Given the description of an element on the screen output the (x, y) to click on. 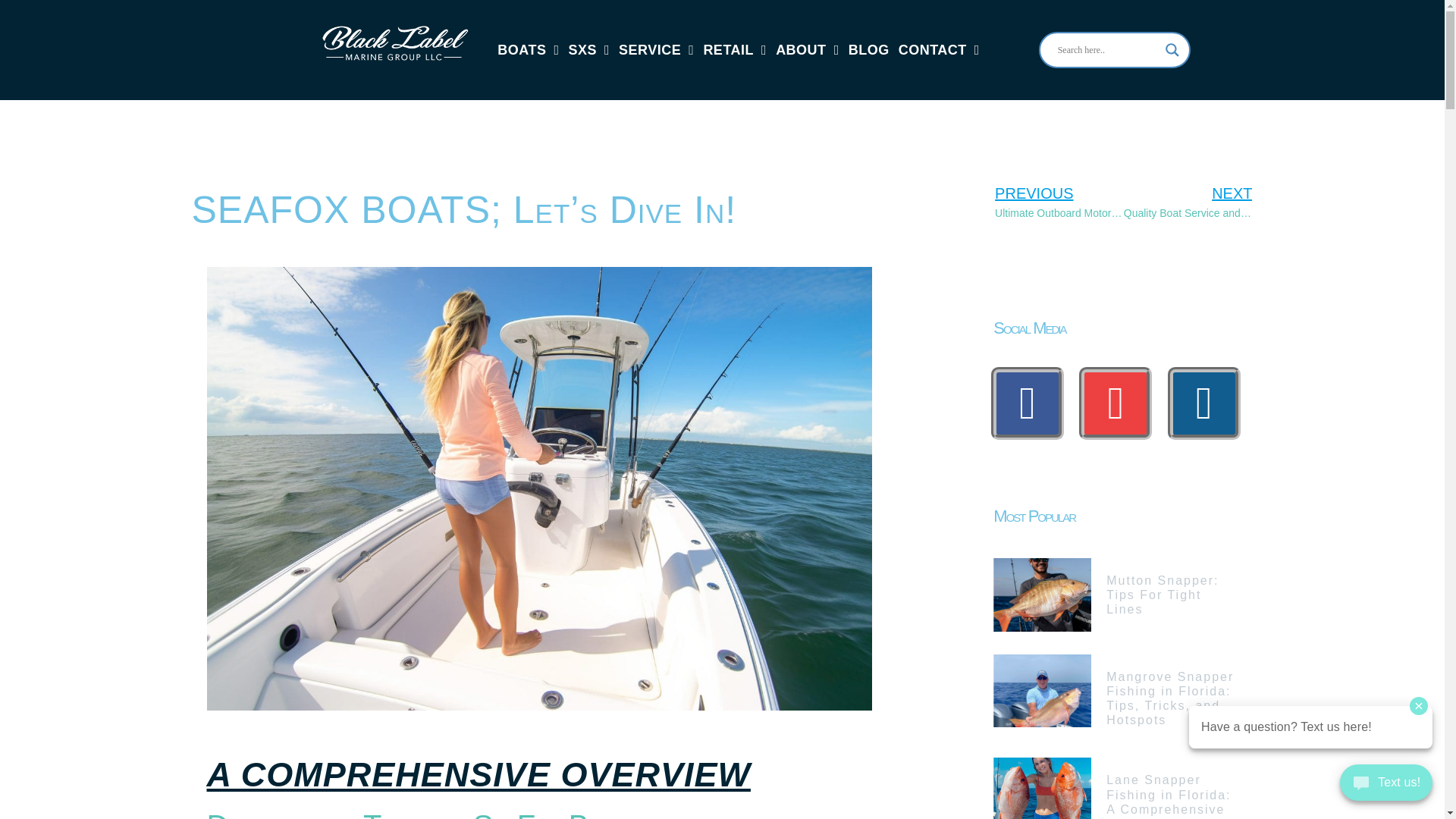
SERVICE (656, 49)
SXS (588, 49)
BOATS (528, 49)
RETAIL (734, 49)
ABOUT (807, 49)
